Given the description of an element on the screen output the (x, y) to click on. 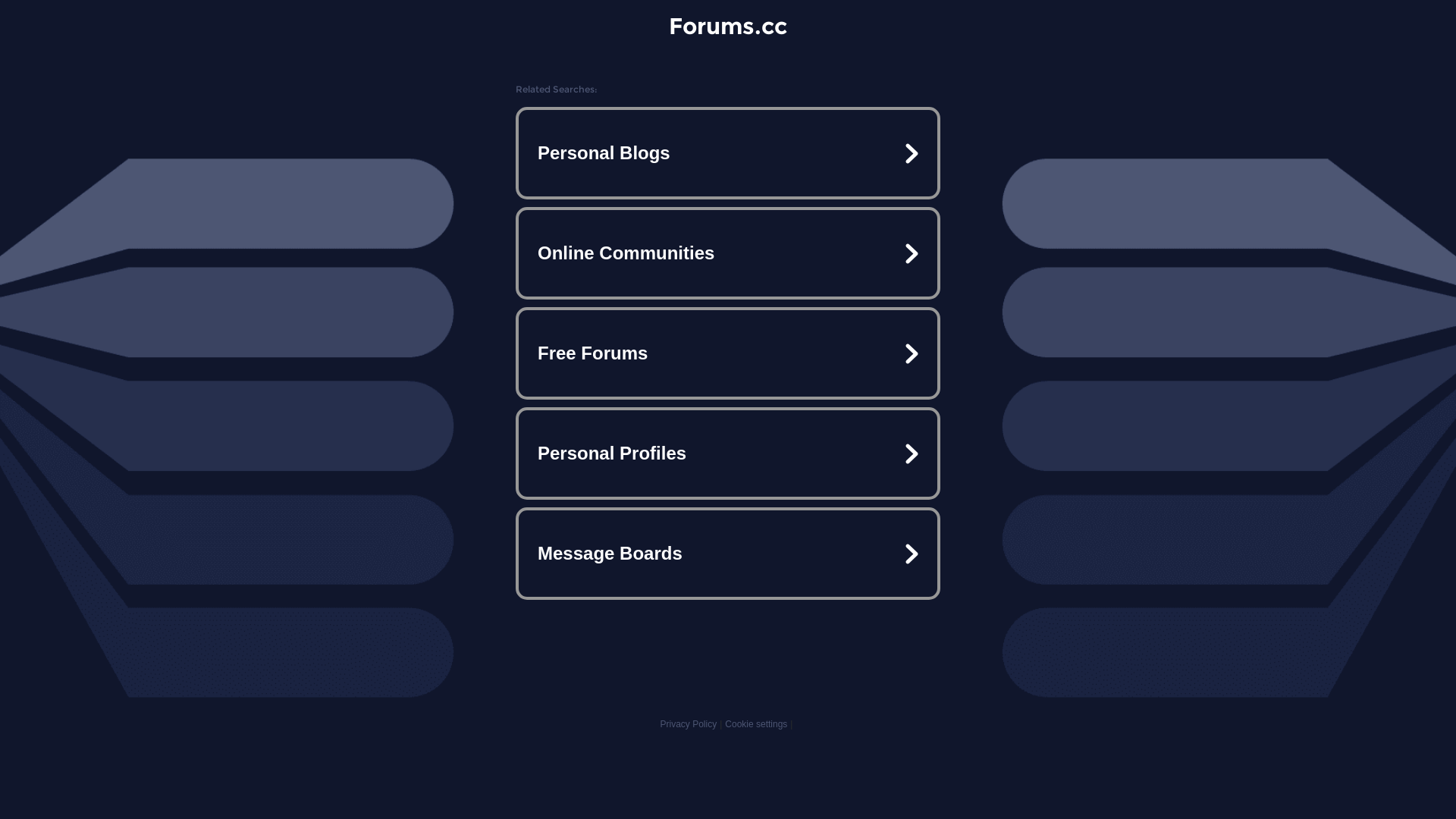
Privacy Policy Element type: text (687, 723)
Free Forums Element type: text (727, 353)
Message Boards Element type: text (727, 553)
Forums.cc Element type: text (727, 26)
Personal Profiles Element type: text (727, 453)
Cookie settings Element type: text (755, 723)
Personal Blogs Element type: text (727, 152)
Online Communities Element type: text (727, 253)
